Given the description of an element on the screen output the (x, y) to click on. 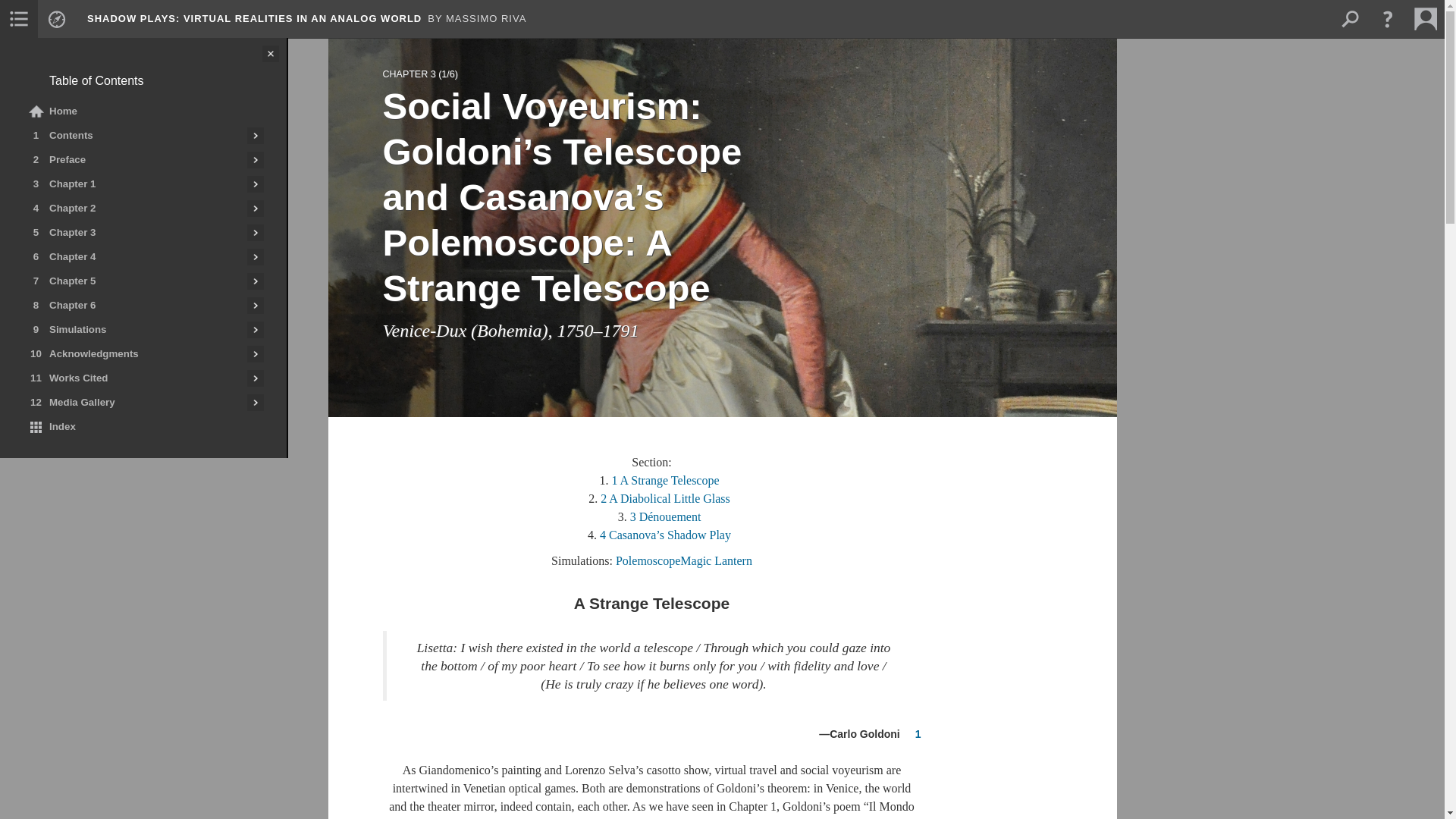
Open search field (1349, 18)
Chapter 4 (133, 256)
Home (143, 111)
Explore Simulations (255, 329)
Explore Media Gallery (255, 402)
Explore Chapter 4 (255, 256)
Explore Chapter 3 (255, 232)
Explore Chapter 5 (255, 280)
Contents (133, 135)
Acknowledgments (133, 353)
Explore Acknowledgments (255, 353)
Explore Preface (255, 159)
Media Gallery (133, 402)
Chapter 1 (133, 184)
Explore Chapter 2 (255, 208)
